Given the description of an element on the screen output the (x, y) to click on. 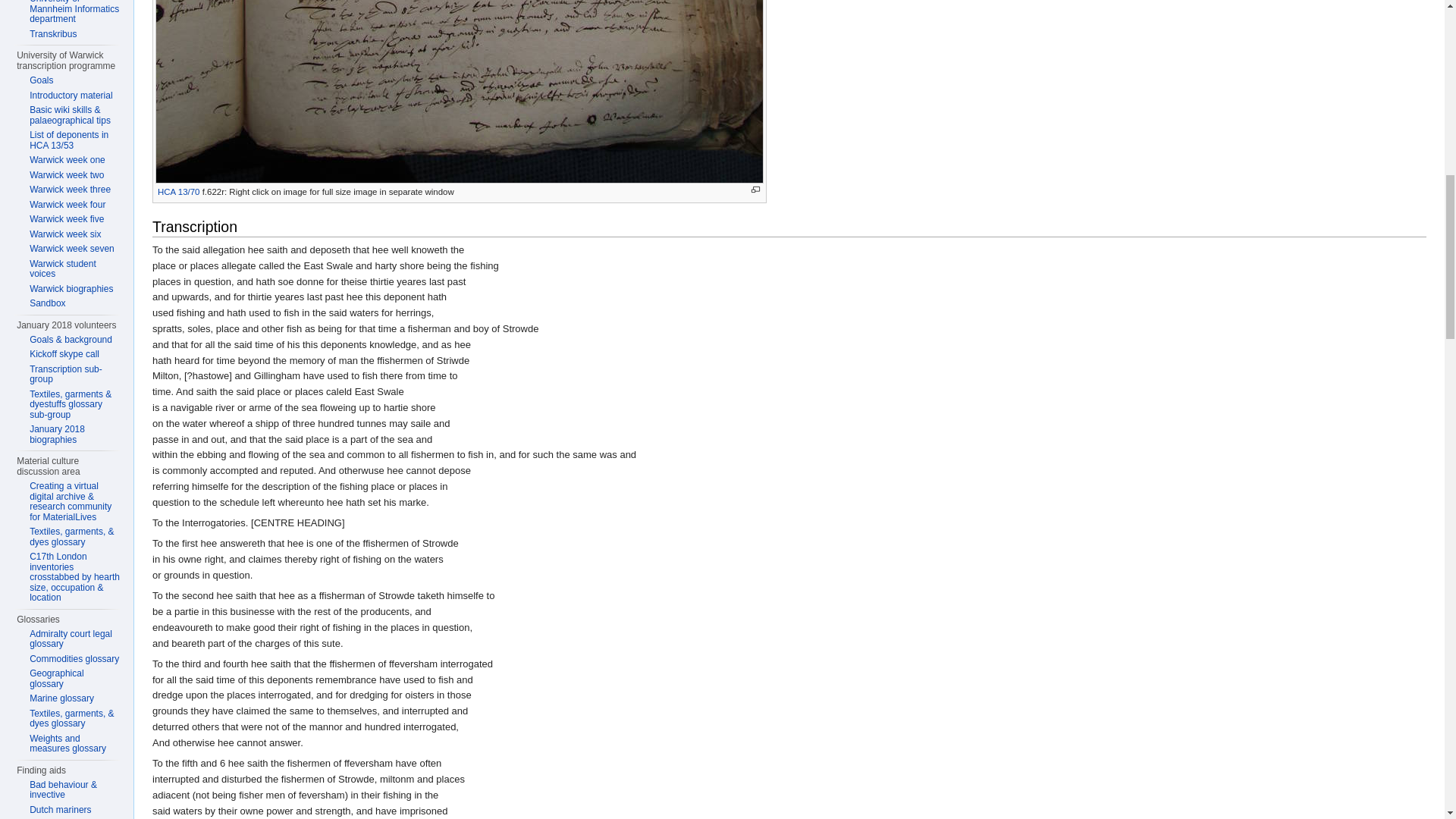
Enlarge (755, 189)
